Given the description of an element on the screen output the (x, y) to click on. 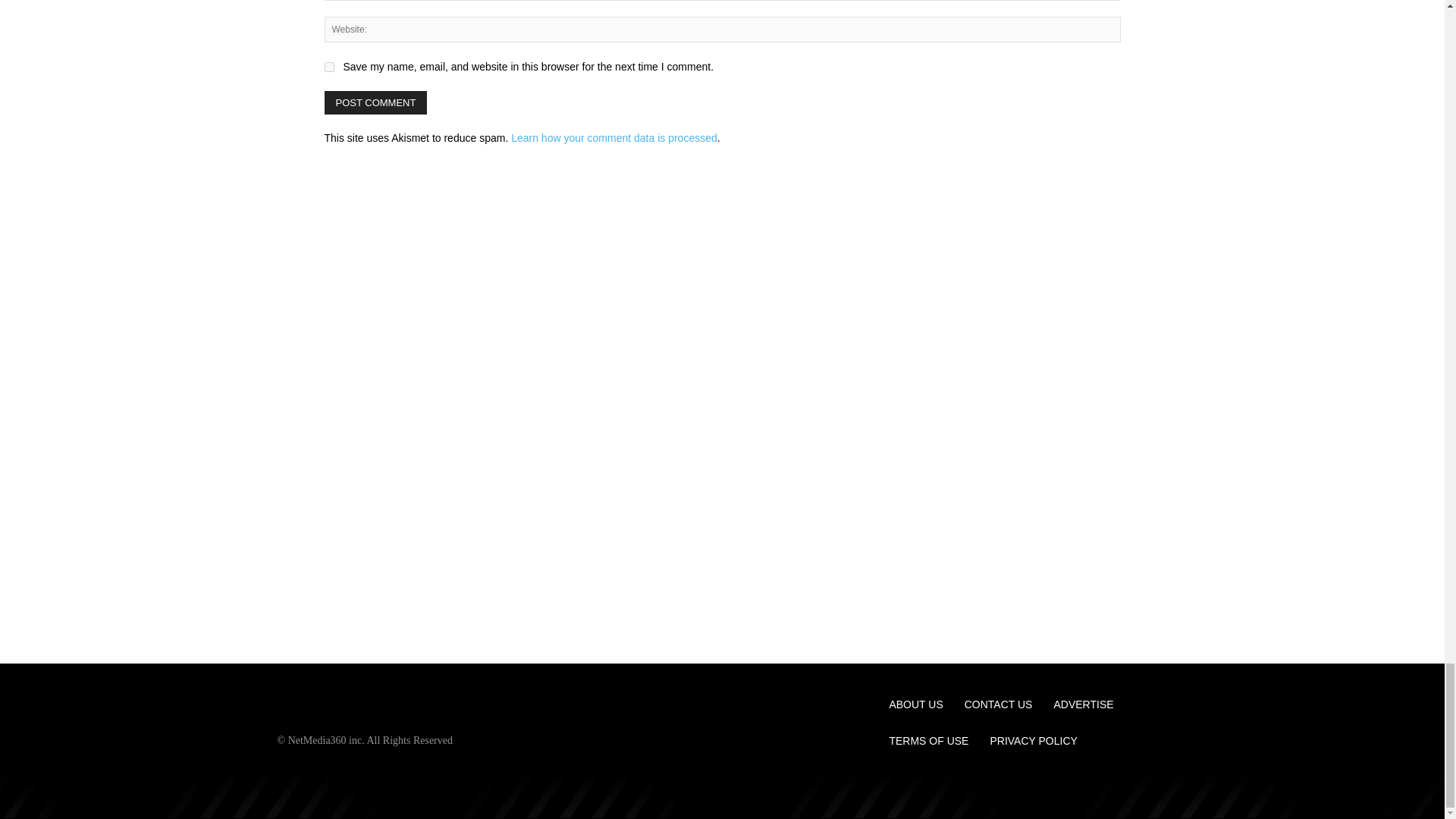
yes (329, 67)
Post Comment (376, 102)
